Given the description of an element on the screen output the (x, y) to click on. 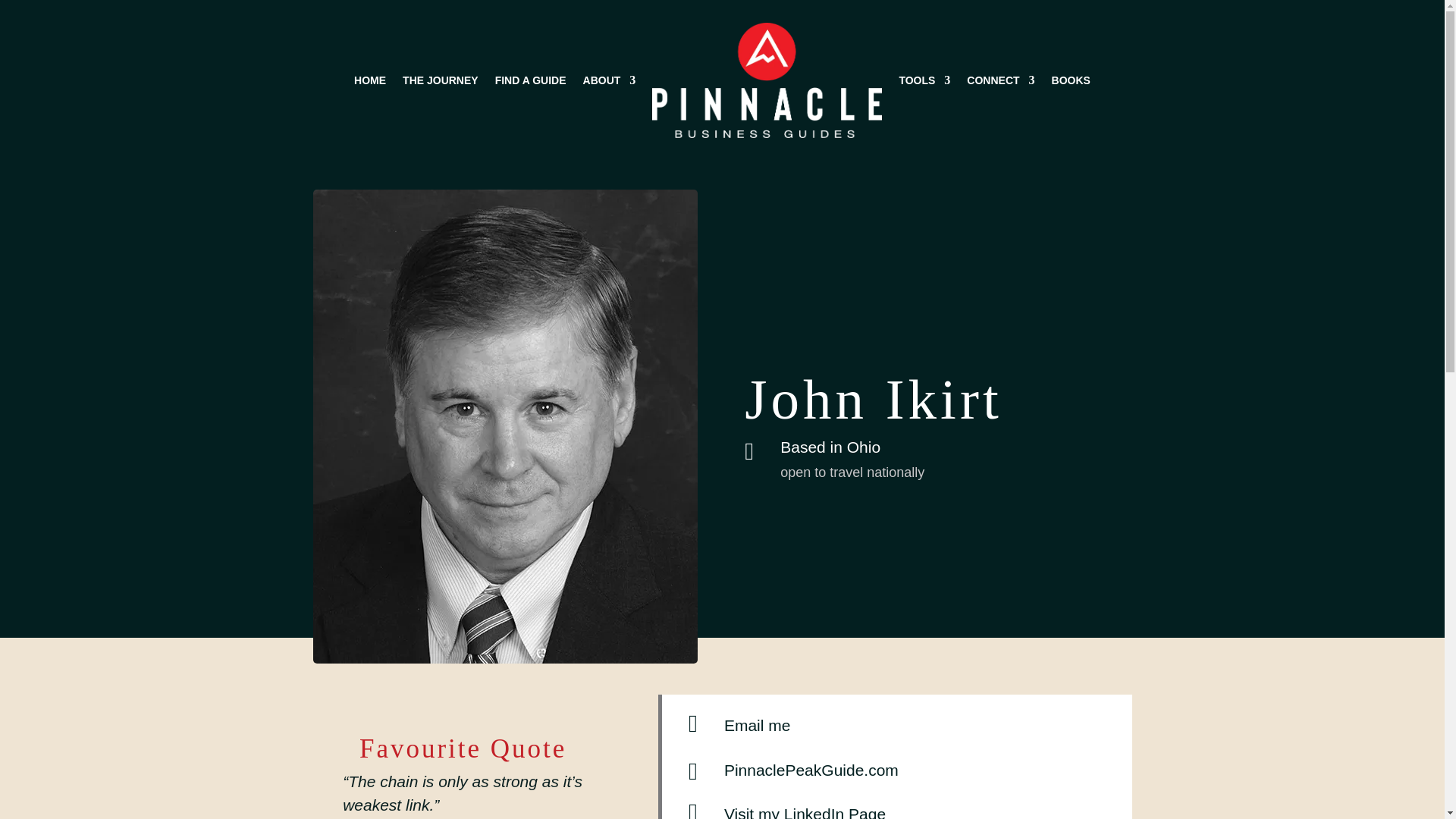
CONNECT (999, 80)
THE JOURNEY (441, 80)
FIND A GUIDE (530, 80)
HOME (369, 80)
BOOKS (1070, 80)
TOOLS (924, 80)
ABOUT (609, 80)
